Given the description of an element on the screen output the (x, y) to click on. 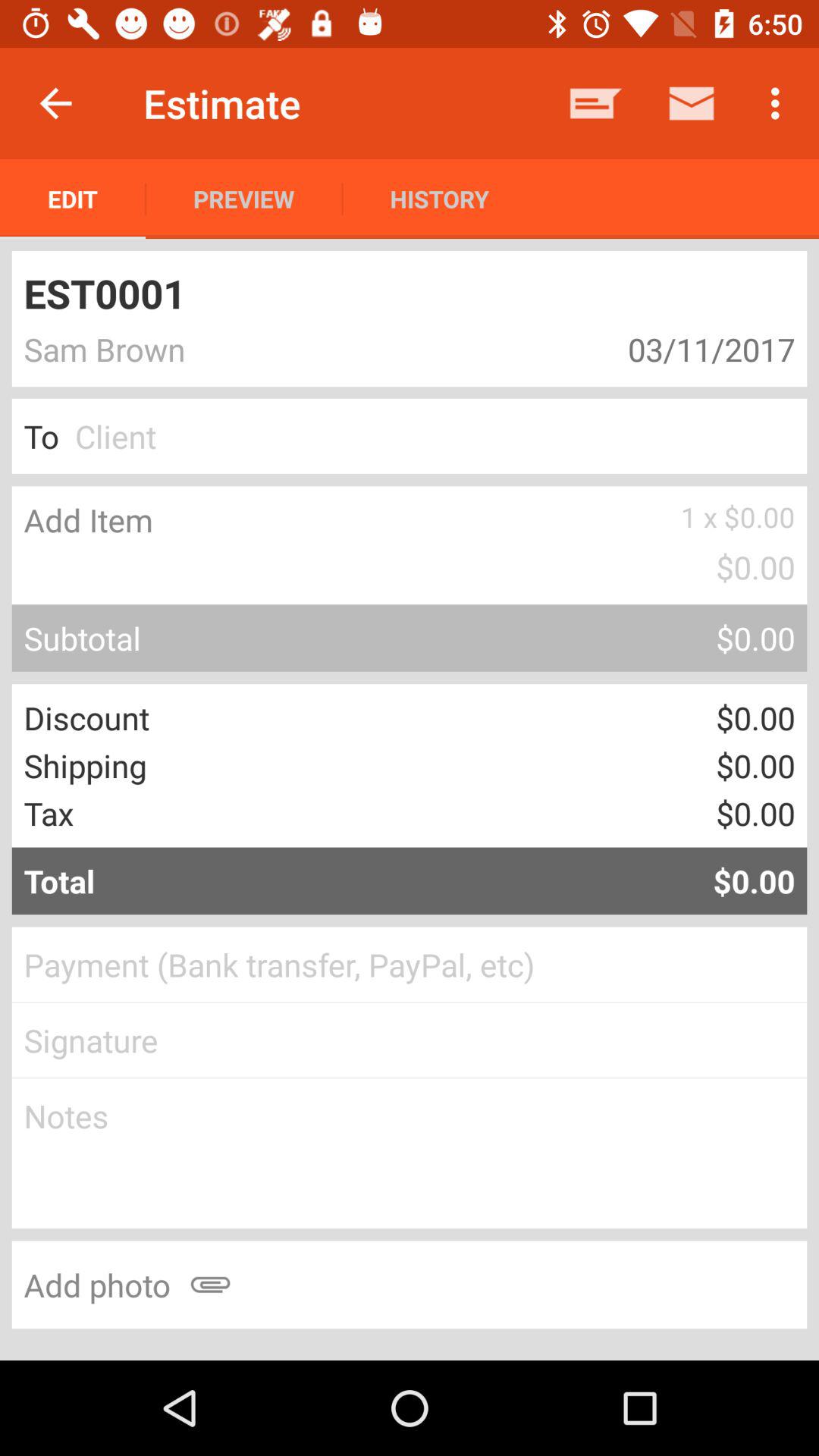
press the edit icon (72, 198)
